Given the description of an element on the screen output the (x, y) to click on. 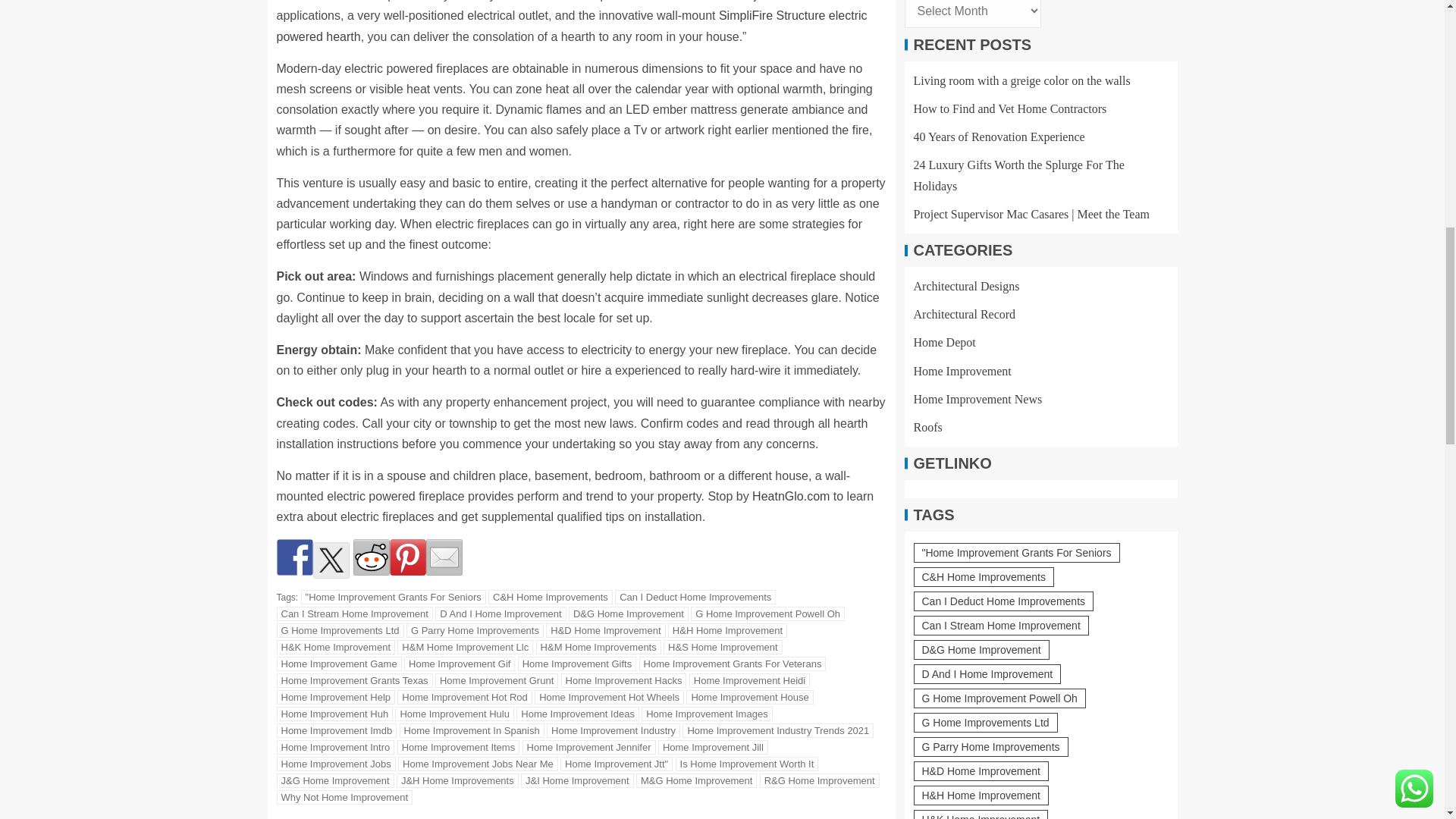
SimpliFire Structure electric powered hearth (571, 25)
HeatnGlo.com (790, 495)
Share by email (444, 556)
Pin it with Pinterest (408, 556)
G Home Improvement Powell Oh (767, 613)
G Parry Home Improvements (474, 630)
D And I Home Improvement (500, 613)
Can I Deduct Home Improvements (695, 596)
Share on Twitter (331, 560)
Share on Reddit (371, 556)
"Home Improvement Grants For Seniors (393, 596)
G Home Improvements Ltd (339, 630)
Can I Stream Home Improvement (354, 613)
